Given the description of an element on the screen output the (x, y) to click on. 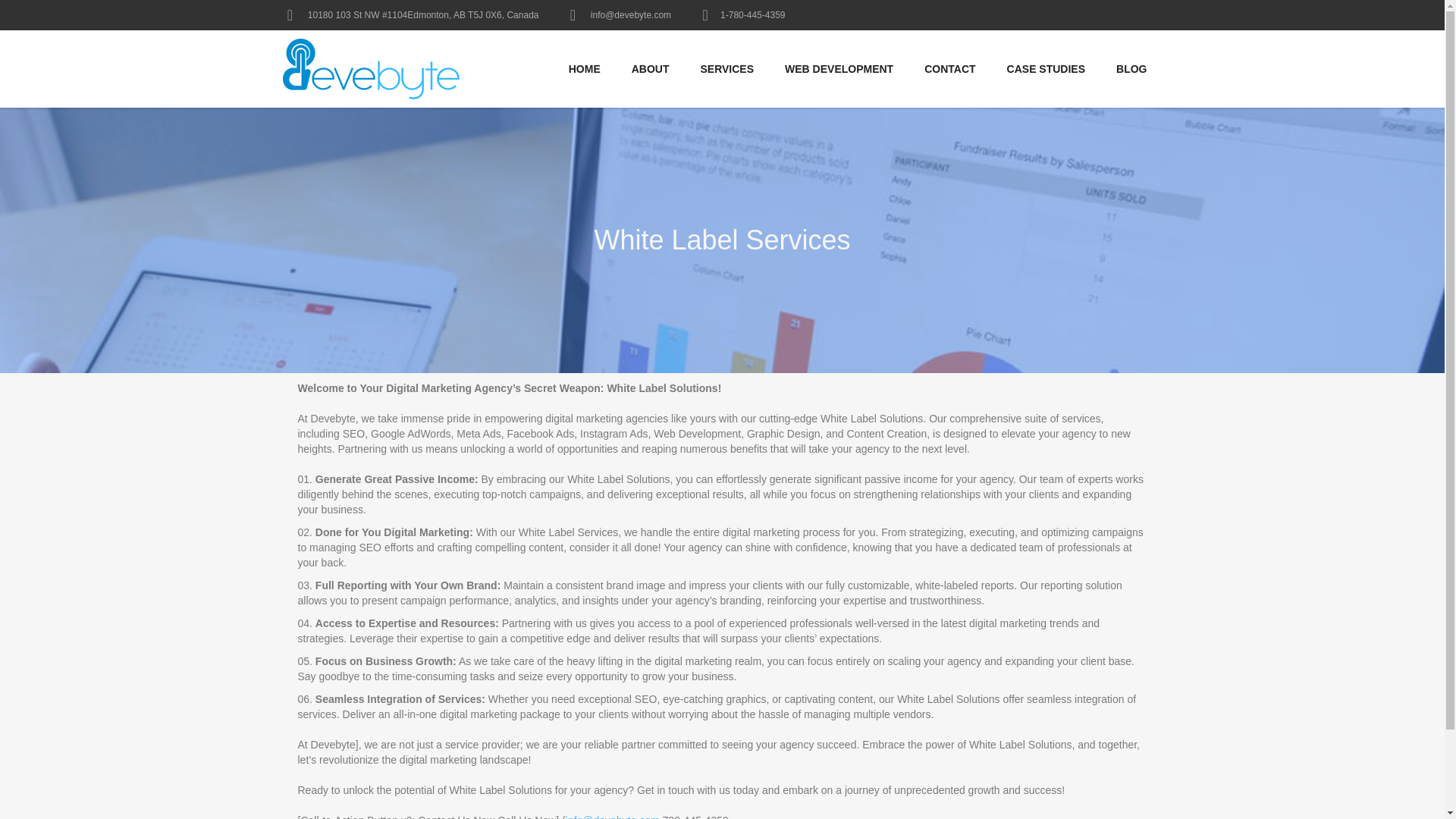
BLOG (1130, 68)
ABOUT (649, 68)
1-780-445-4359 (752, 14)
SERVICES (727, 68)
HOME (584, 68)
CASE STUDIES (1045, 68)
CONTACT (949, 68)
WEB DEVELOPMENT (839, 68)
